Given the description of an element on the screen output the (x, y) to click on. 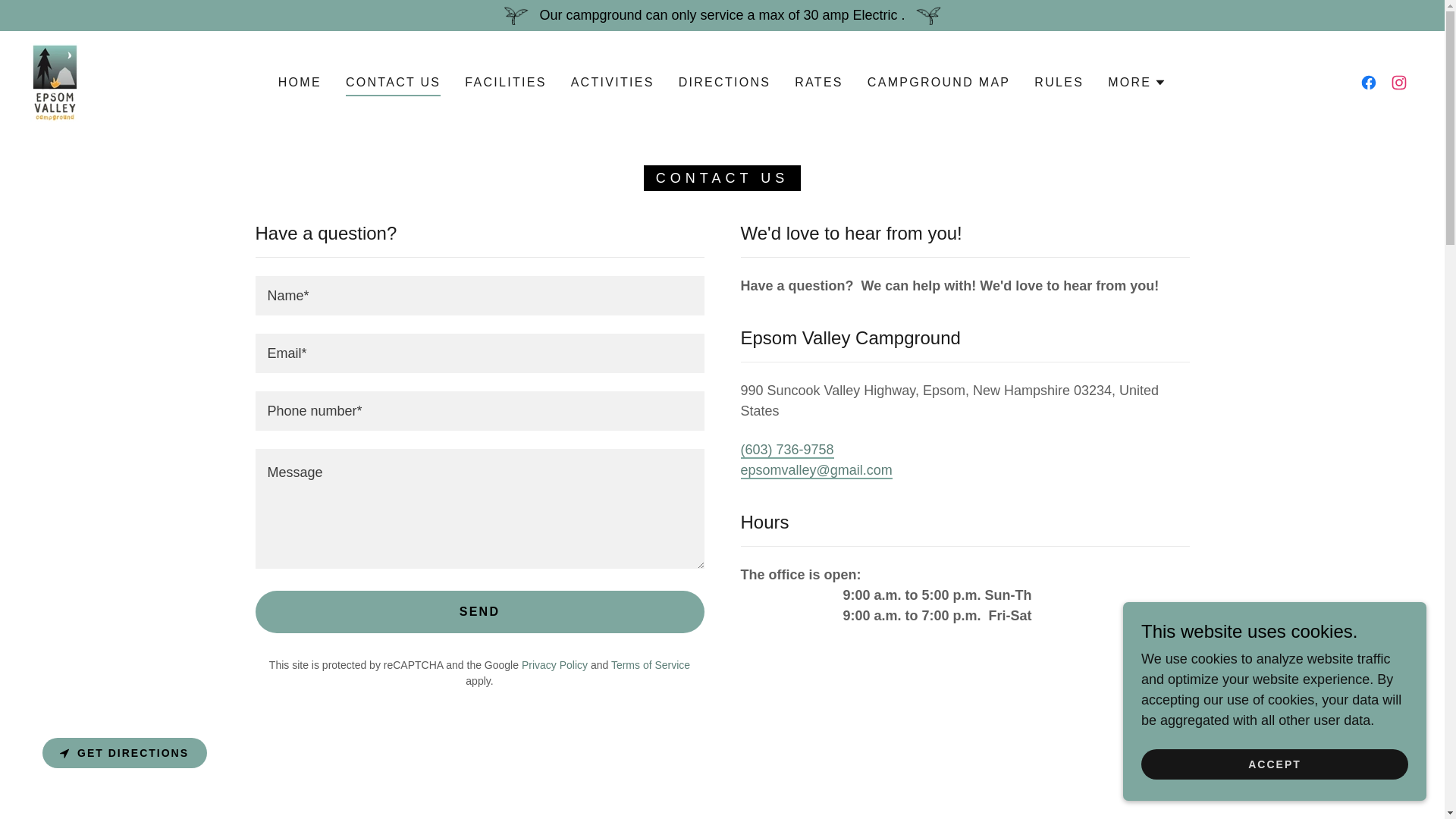
MORE (1137, 82)
RULES (1058, 82)
DIRECTIONS (725, 82)
Terms of Service (650, 664)
HOME (299, 82)
FACILITIES (505, 82)
SEND (478, 611)
ACTIVITIES (612, 82)
Privacy Policy (554, 664)
CONTACT US (393, 84)
CAMPGROUND MAP (938, 82)
RATES (818, 82)
